Given the description of an element on the screen output the (x, y) to click on. 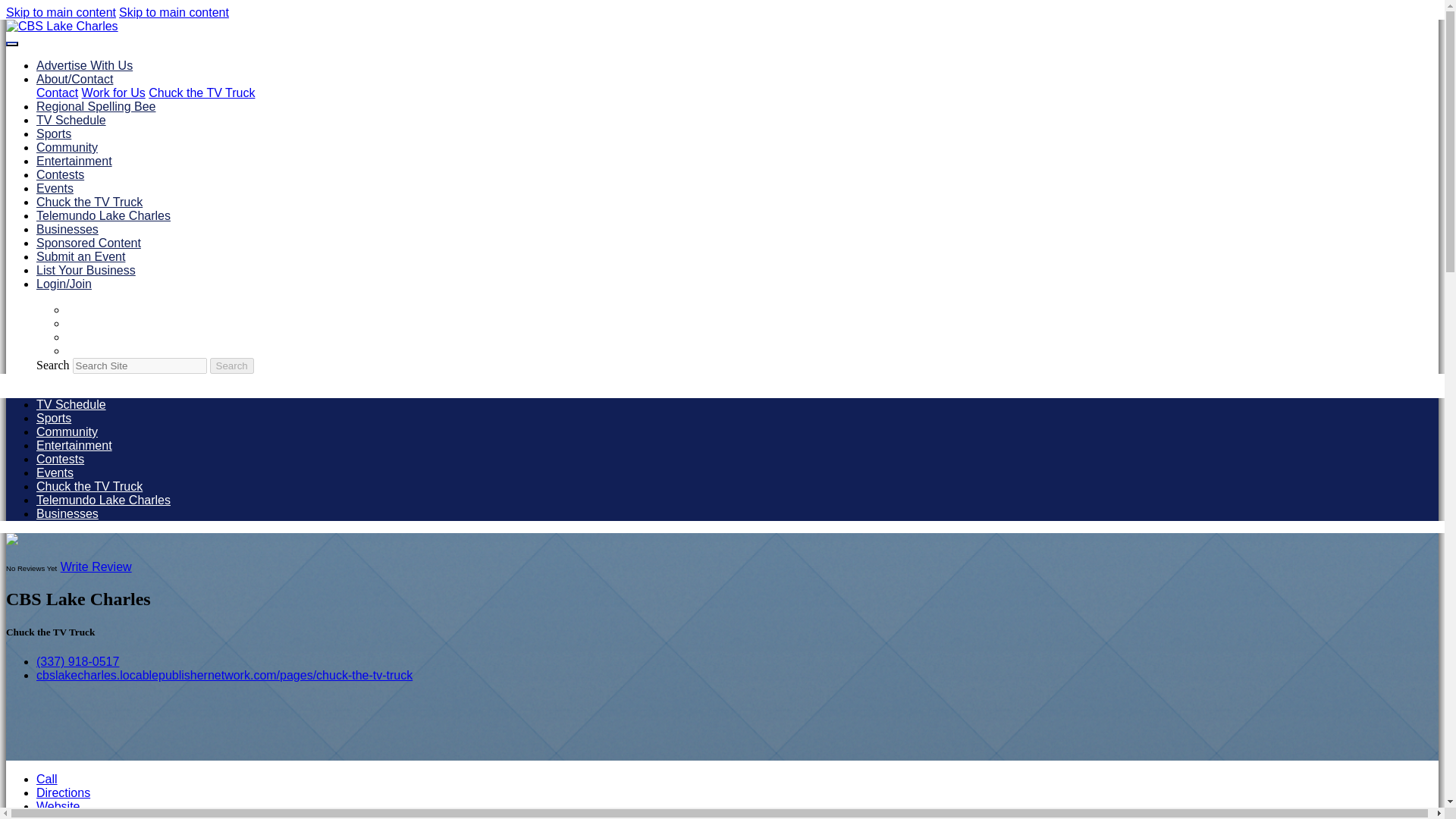
Telemundo Lake Charles (103, 215)
Events (55, 472)
Businesses (67, 228)
Sports (53, 133)
List Your Business (85, 269)
TV Schedule (71, 119)
Contact (57, 92)
Search (231, 365)
Chuck the TV Truck (89, 486)
Sports (53, 418)
Telemundo Lake Charles (103, 499)
TV Schedule (71, 404)
Skip to main content (173, 11)
Businesses (67, 513)
Chuck the TV Truck (89, 201)
